Given the description of an element on the screen output the (x, y) to click on. 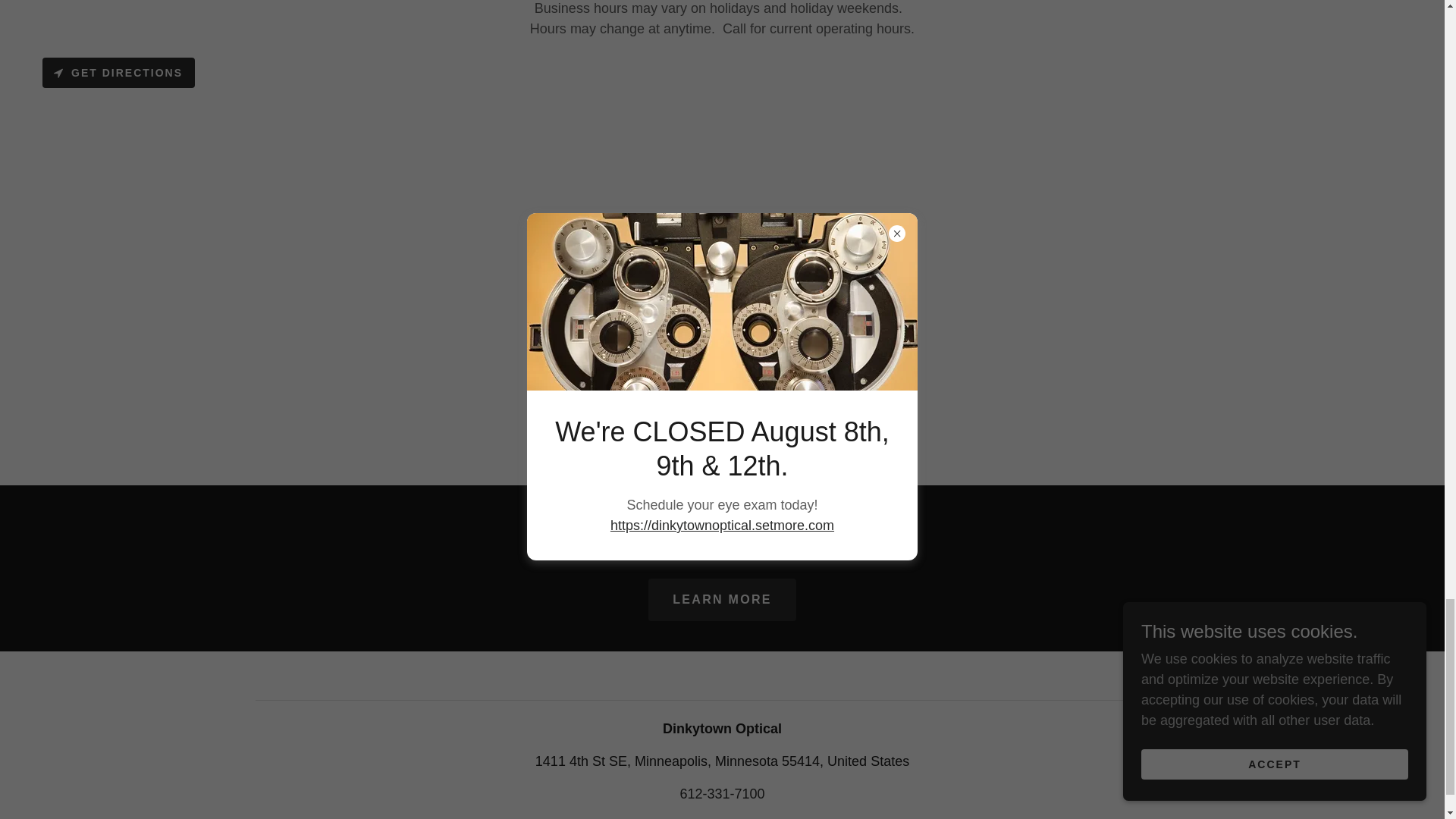
GET DIRECTIONS (118, 72)
612-331-7100 (721, 793)
LEARN MORE (720, 599)
